Given the description of an element on the screen output the (x, y) to click on. 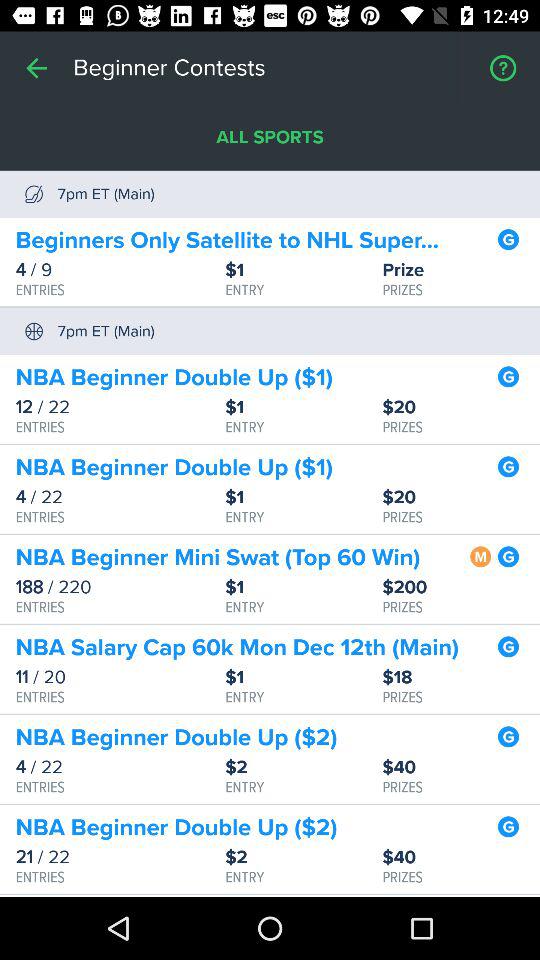
press $200 (461, 587)
